Given the description of an element on the screen output the (x, y) to click on. 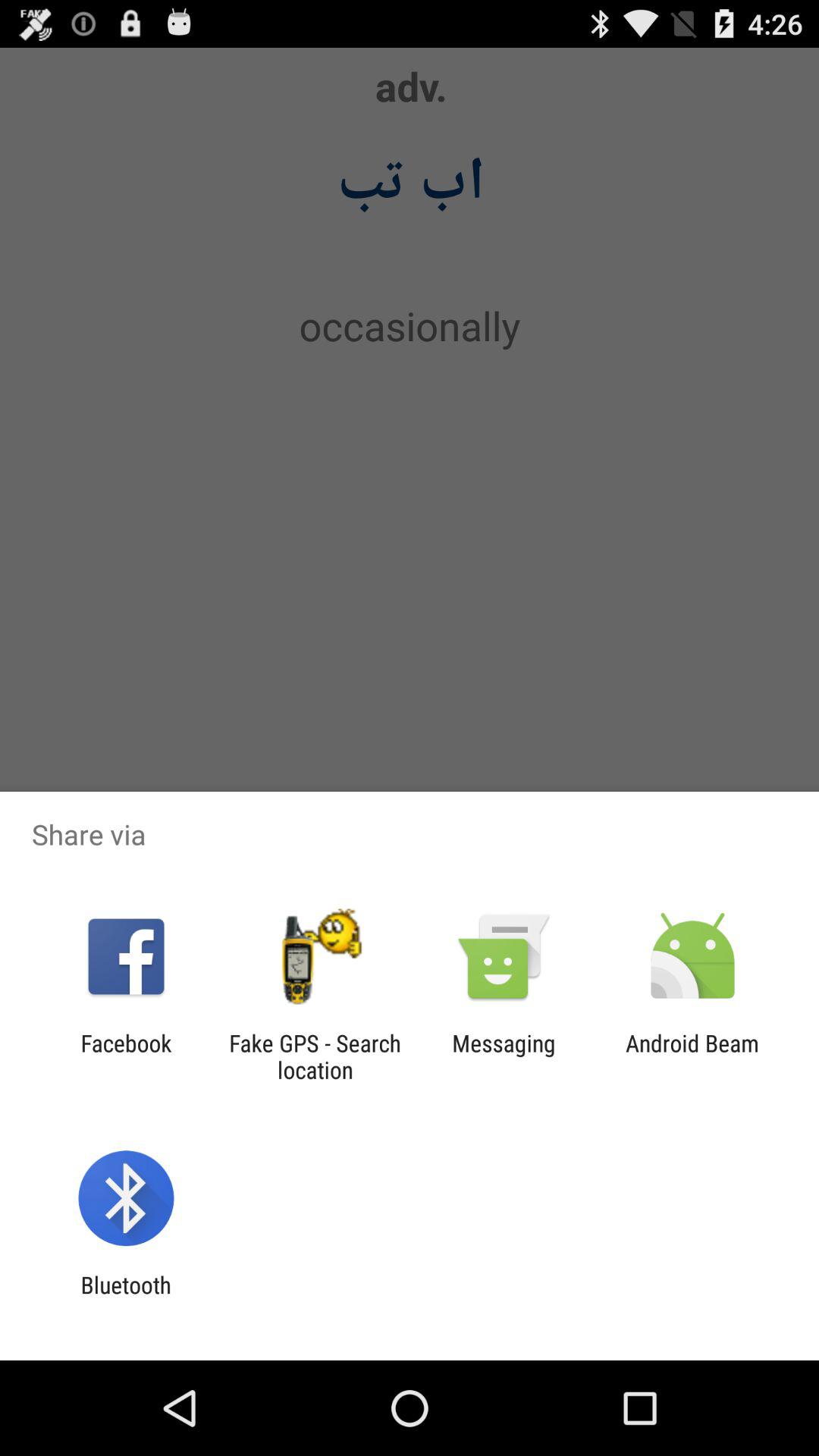
turn off icon at the bottom right corner (692, 1056)
